Given the description of an element on the screen output the (x, y) to click on. 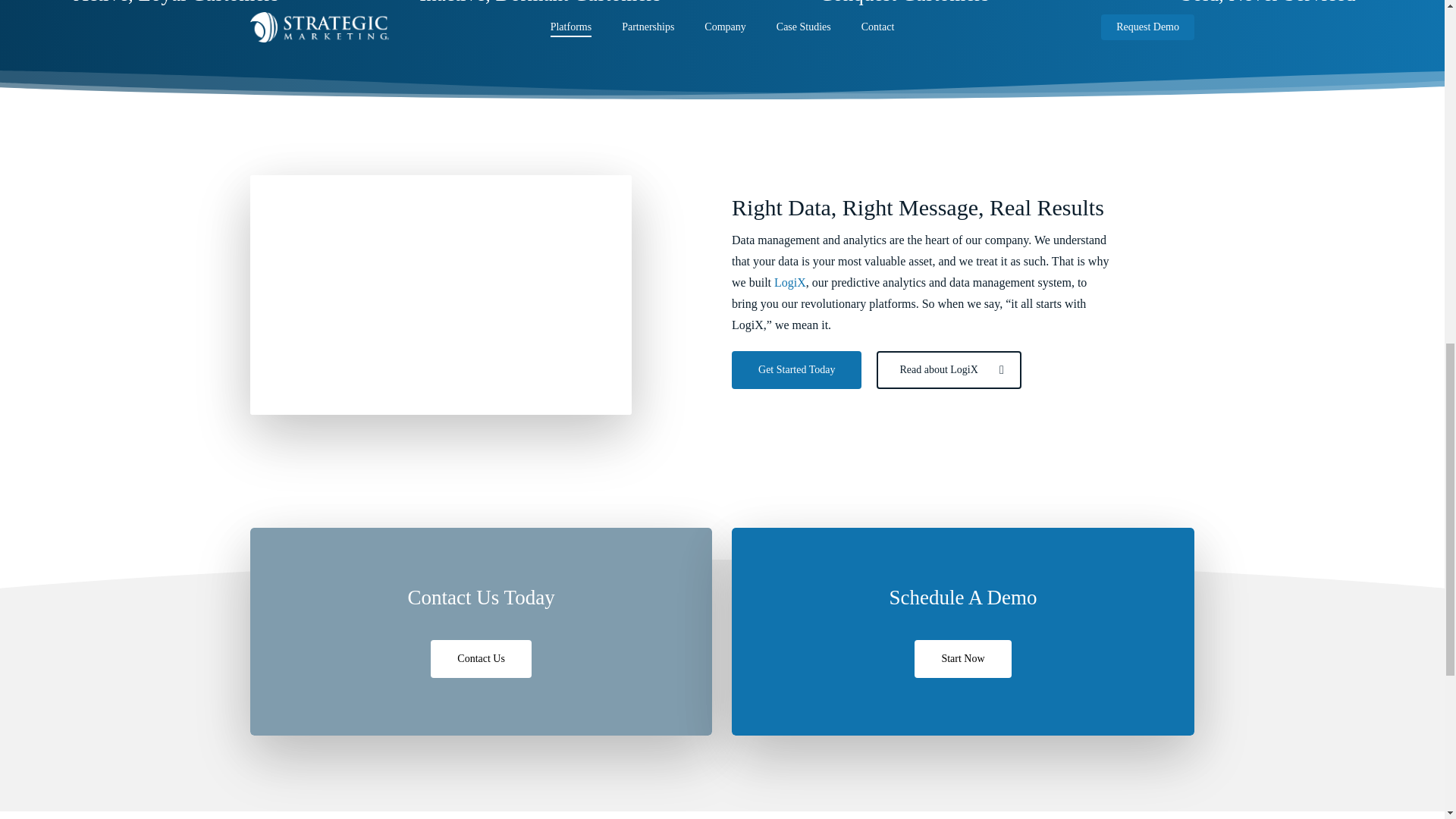
LogiX (790, 282)
Contact Us (480, 658)
Get Started Today (796, 370)
Read about LogiX (948, 370)
Start Now (962, 658)
